Given the description of an element on the screen output the (x, y) to click on. 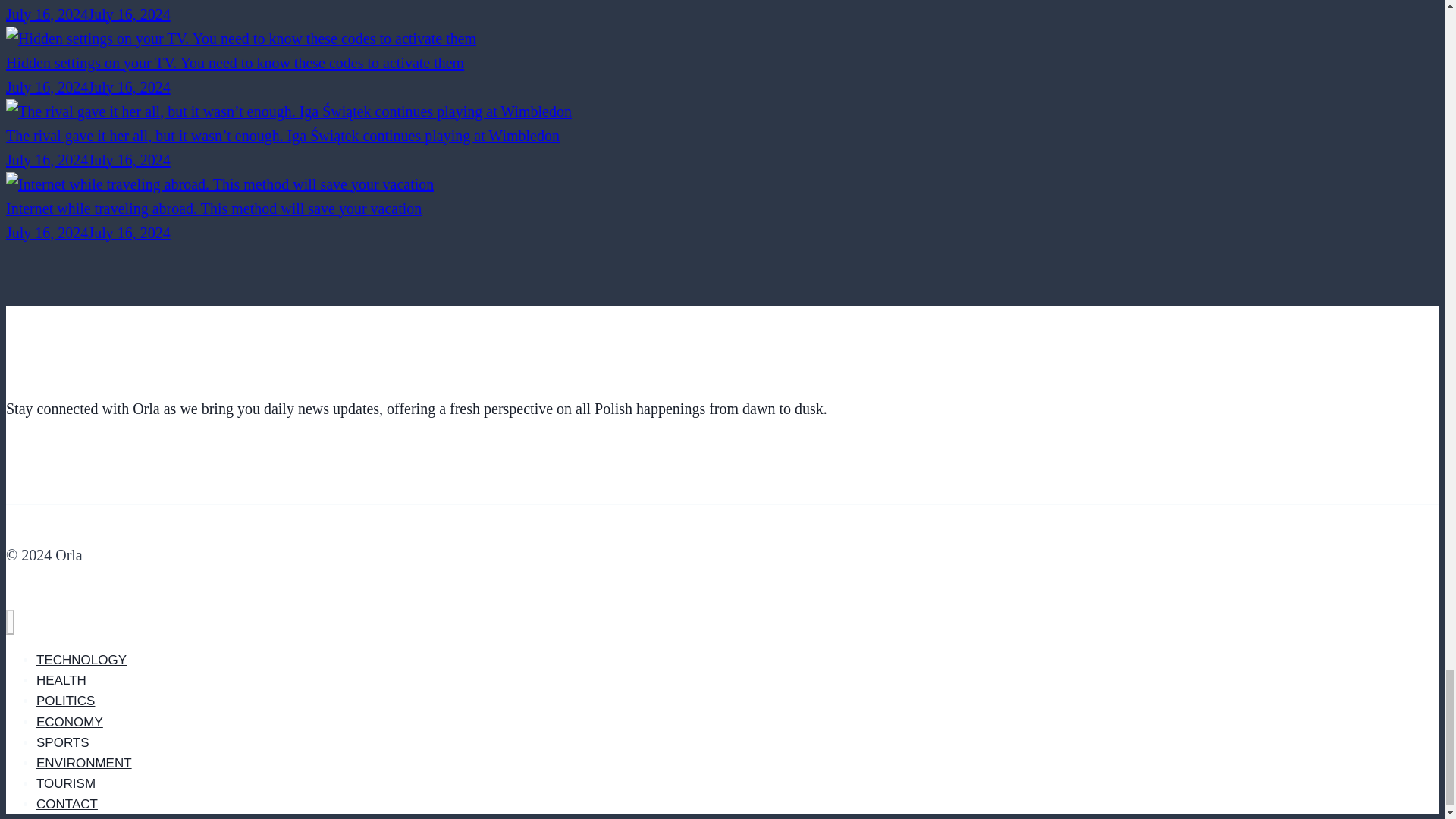
POLITICS (65, 700)
10:26 pm (87, 86)
8:26 pm (87, 232)
July 16, 2024July 16, 2024 (87, 13)
July 16, 2024July 16, 2024 (87, 232)
HEALTH (60, 680)
July 16, 2024July 16, 2024 (87, 86)
9:26 pm (87, 159)
July 16, 2024July 16, 2024 (87, 159)
11:26 pm (87, 13)
TECHNOLOGY (81, 659)
